Given the description of an element on the screen output the (x, y) to click on. 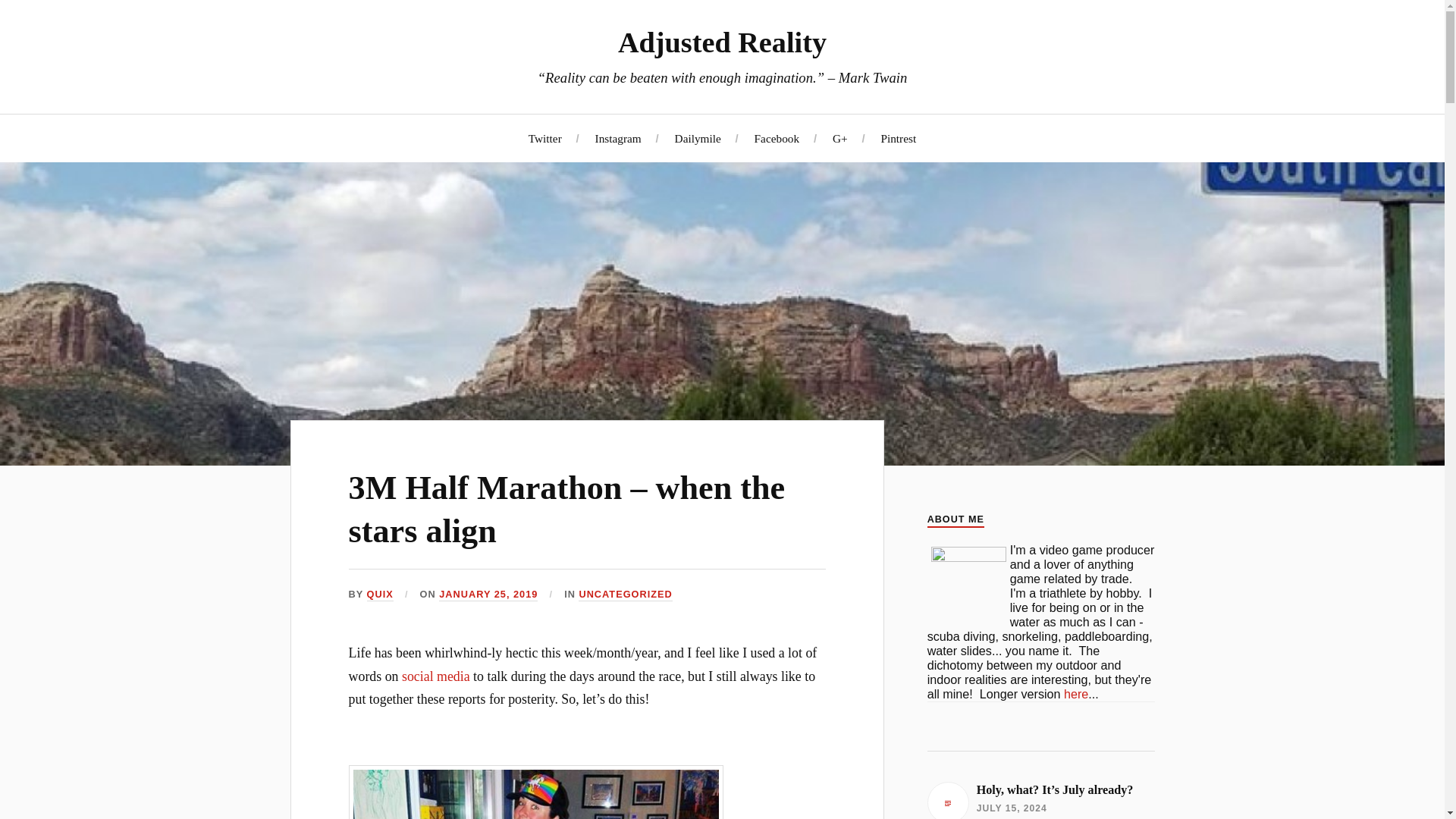
QUIX (379, 594)
Facebook (776, 137)
social media (435, 676)
Posts by Quix (379, 594)
UNCATEGORIZED (624, 594)
JANUARY 25, 2019 (488, 594)
Adjusted Reality (722, 42)
Dailymile (697, 137)
Instagram (618, 137)
